Given the description of an element on the screen output the (x, y) to click on. 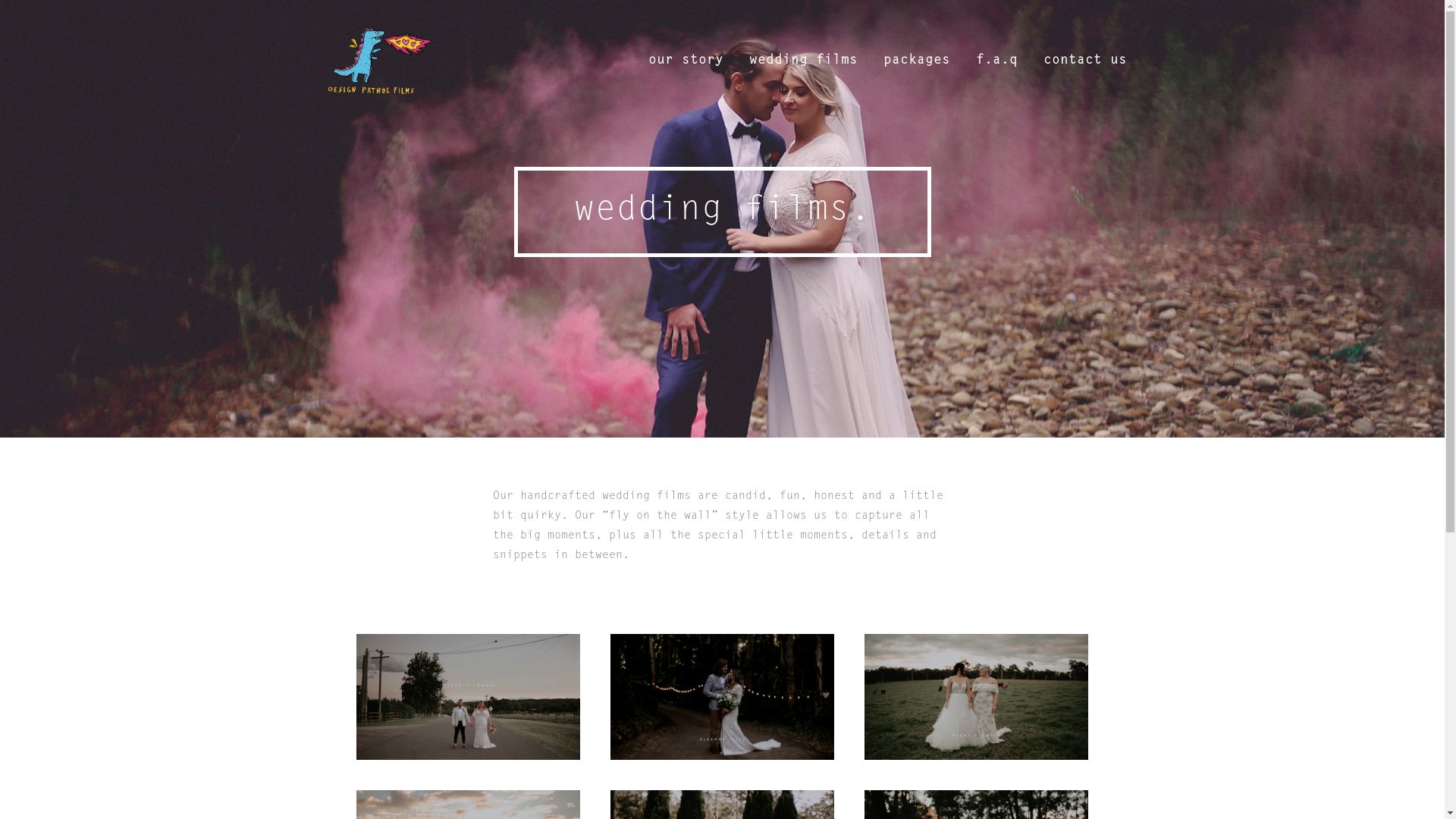
contact us Element type: text (1084, 60)
wedding films Element type: text (802, 60)
Search Element type: text (1072, 21)
packages Element type: text (916, 60)
our story Element type: text (685, 60)
f.a.q Element type: text (996, 60)
